Given the description of an element on the screen output the (x, y) to click on. 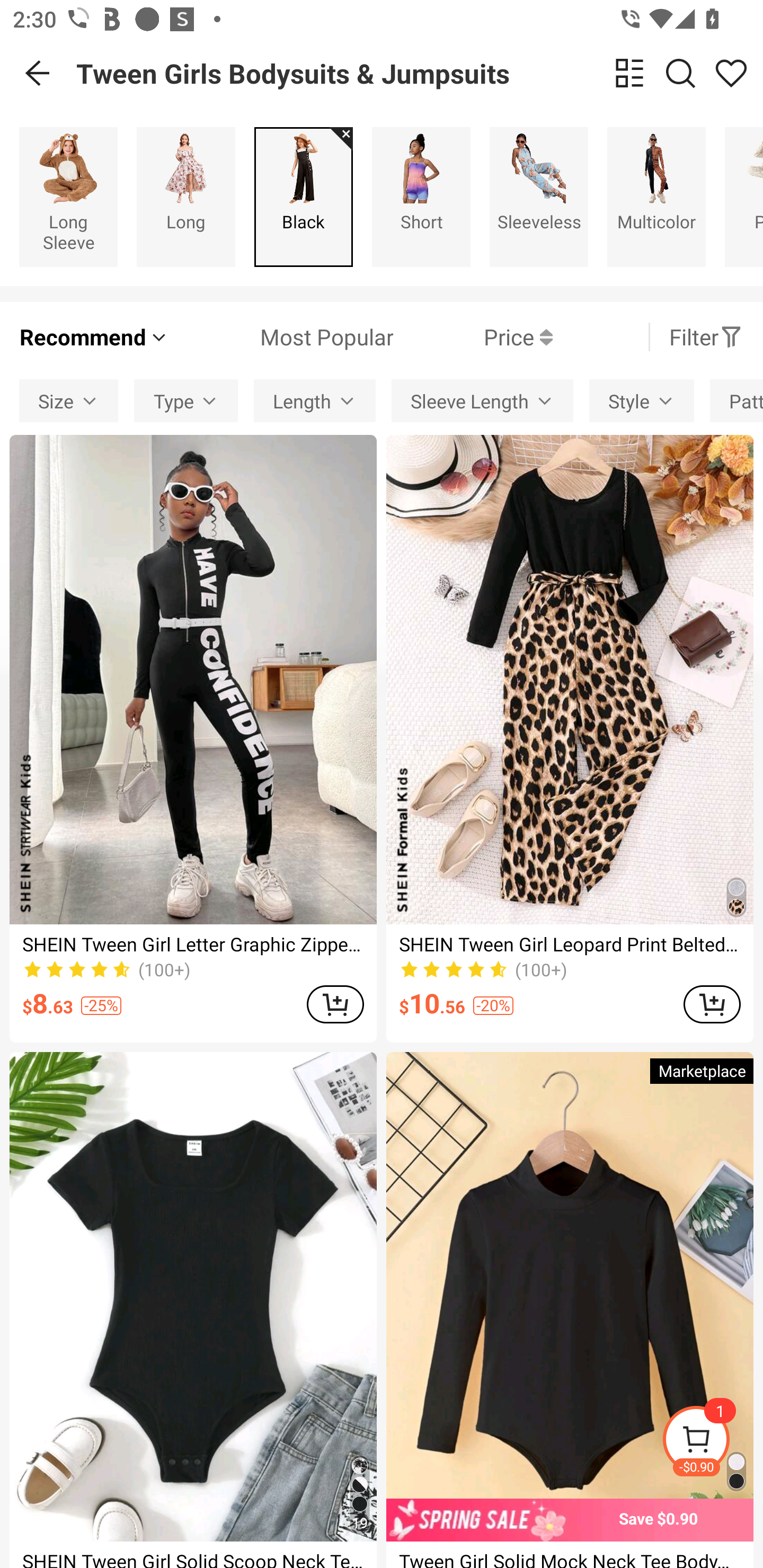
change view (629, 72)
Search (679, 72)
Share (730, 72)
Long Sleeve (68, 196)
Long (185, 196)
Black (303, 196)
Short (421, 196)
Sleeveless (538, 196)
Multicolor (656, 196)
Recommend (94, 336)
Most Popular (280, 336)
Price (472, 336)
Filter (705, 336)
Size (68, 400)
Type (186, 400)
Length (314, 400)
Sleeve Length (482, 400)
Style (641, 400)
ADD TO CART (334, 1003)
ADD TO CART (711, 1003)
-$0.90 (712, 1441)
